Given the description of an element on the screen output the (x, y) to click on. 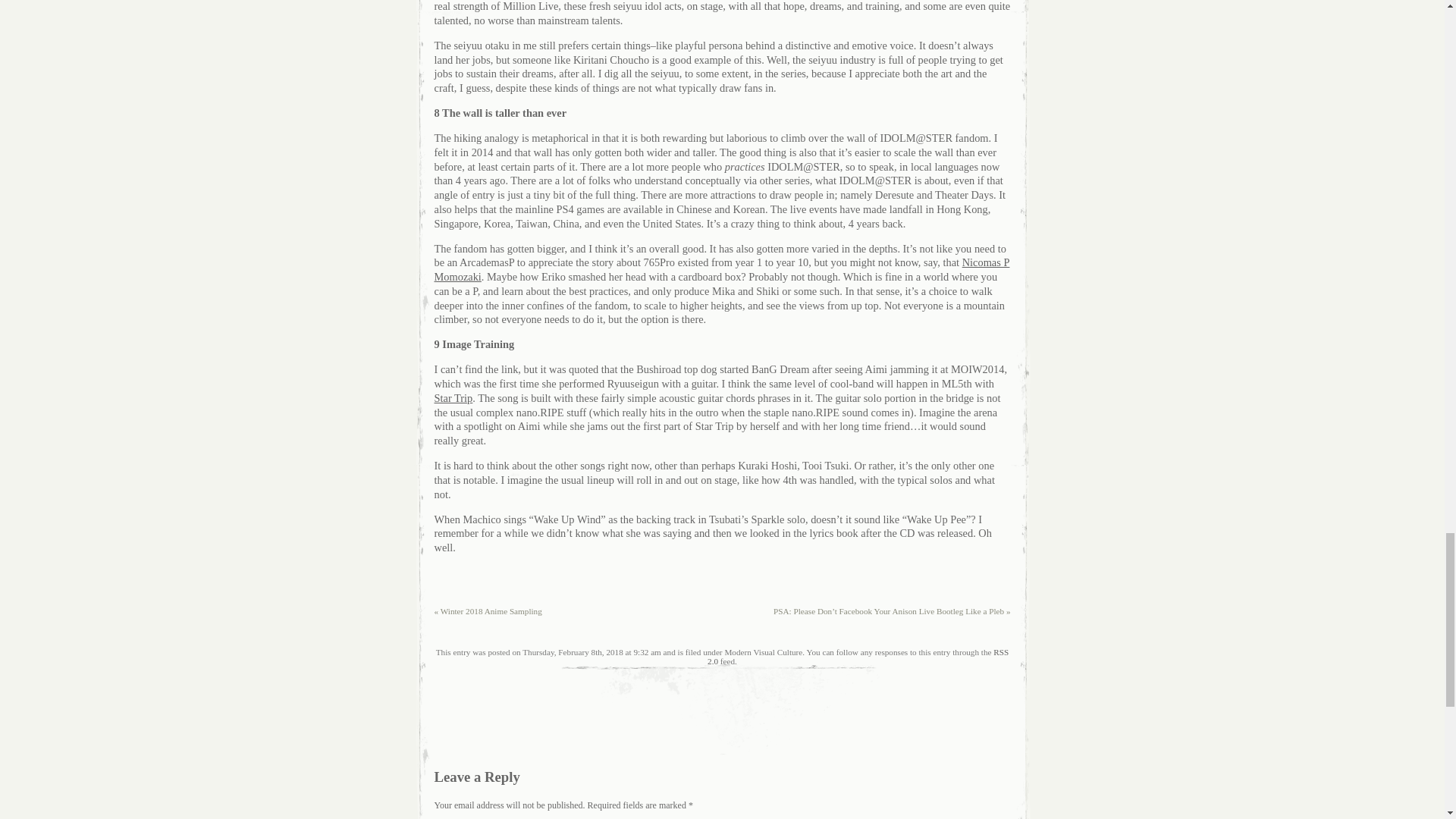
Star Trip (452, 398)
RSS 2.0 (858, 656)
Nicomas P Momozaki (721, 269)
